Given the description of an element on the screen output the (x, y) to click on. 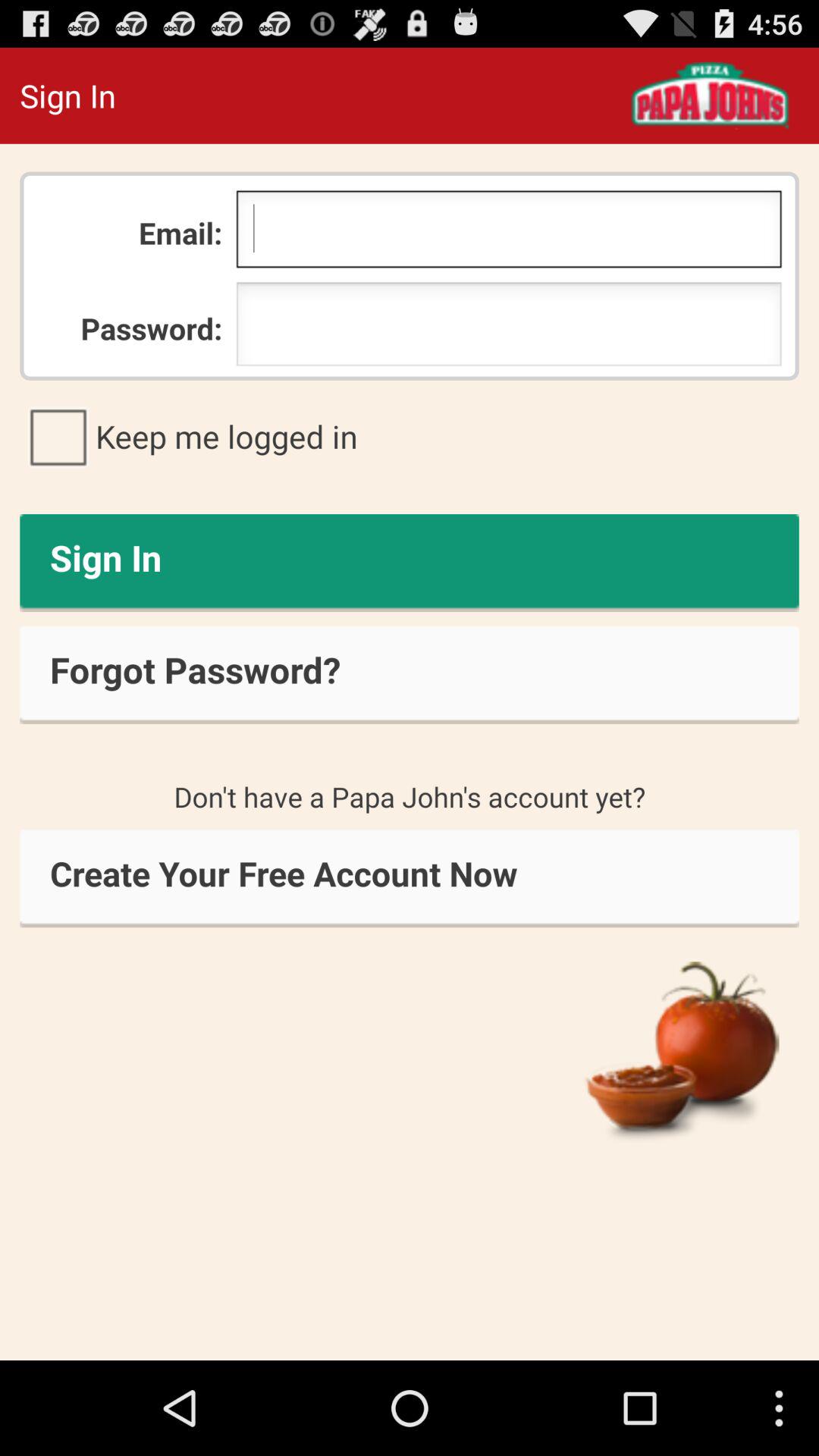
open item to the right of the email: item (508, 232)
